Given the description of an element on the screen output the (x, y) to click on. 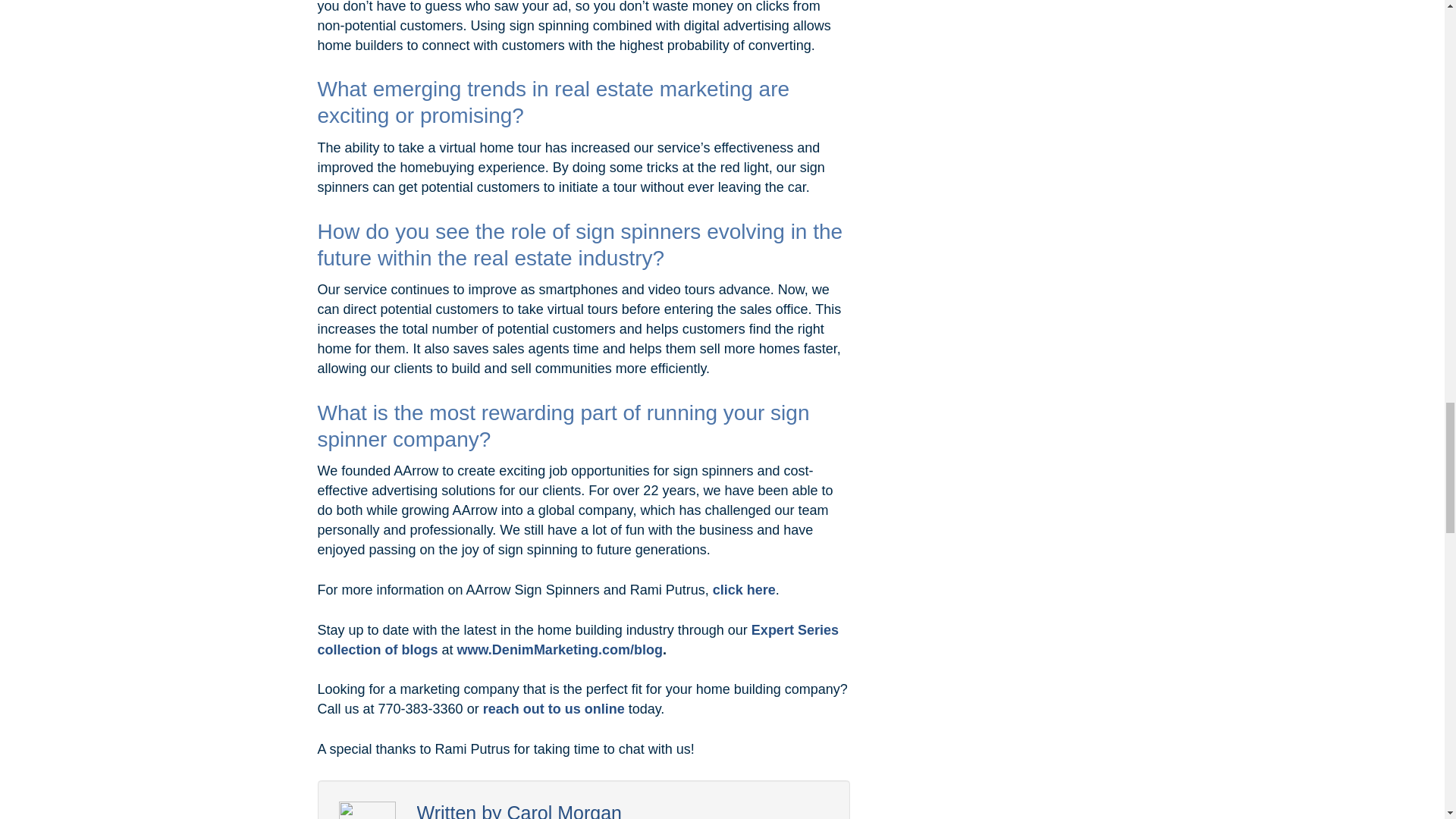
Expert Series collection of blogs (577, 639)
click here (744, 589)
reach out to us online (553, 708)
